Given the description of an element on the screen output the (x, y) to click on. 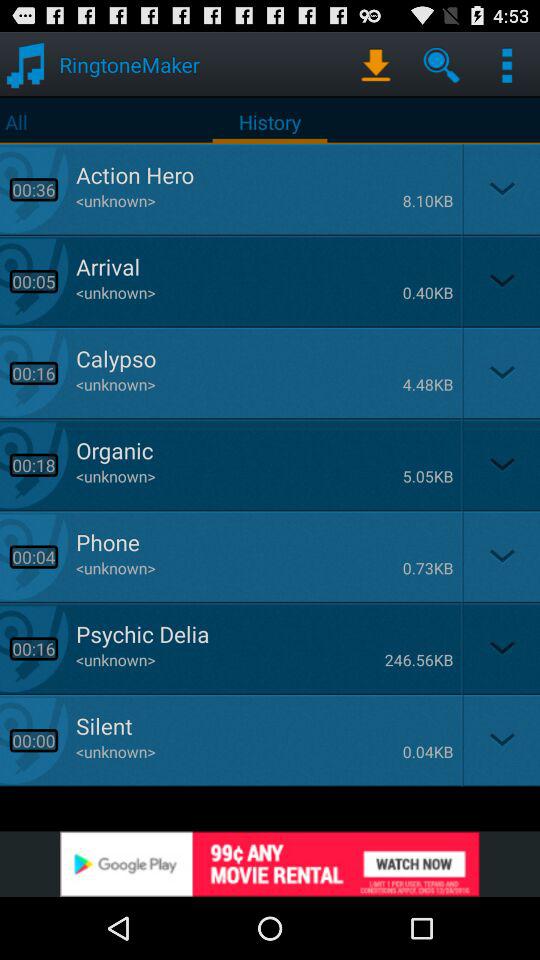
click the second drop down button from the bottom right side of the web page (500, 648)
click on drop down button right to organic (500, 464)
click on the fifth drop down option from top (500, 556)
